Given the description of an element on the screen output the (x, y) to click on. 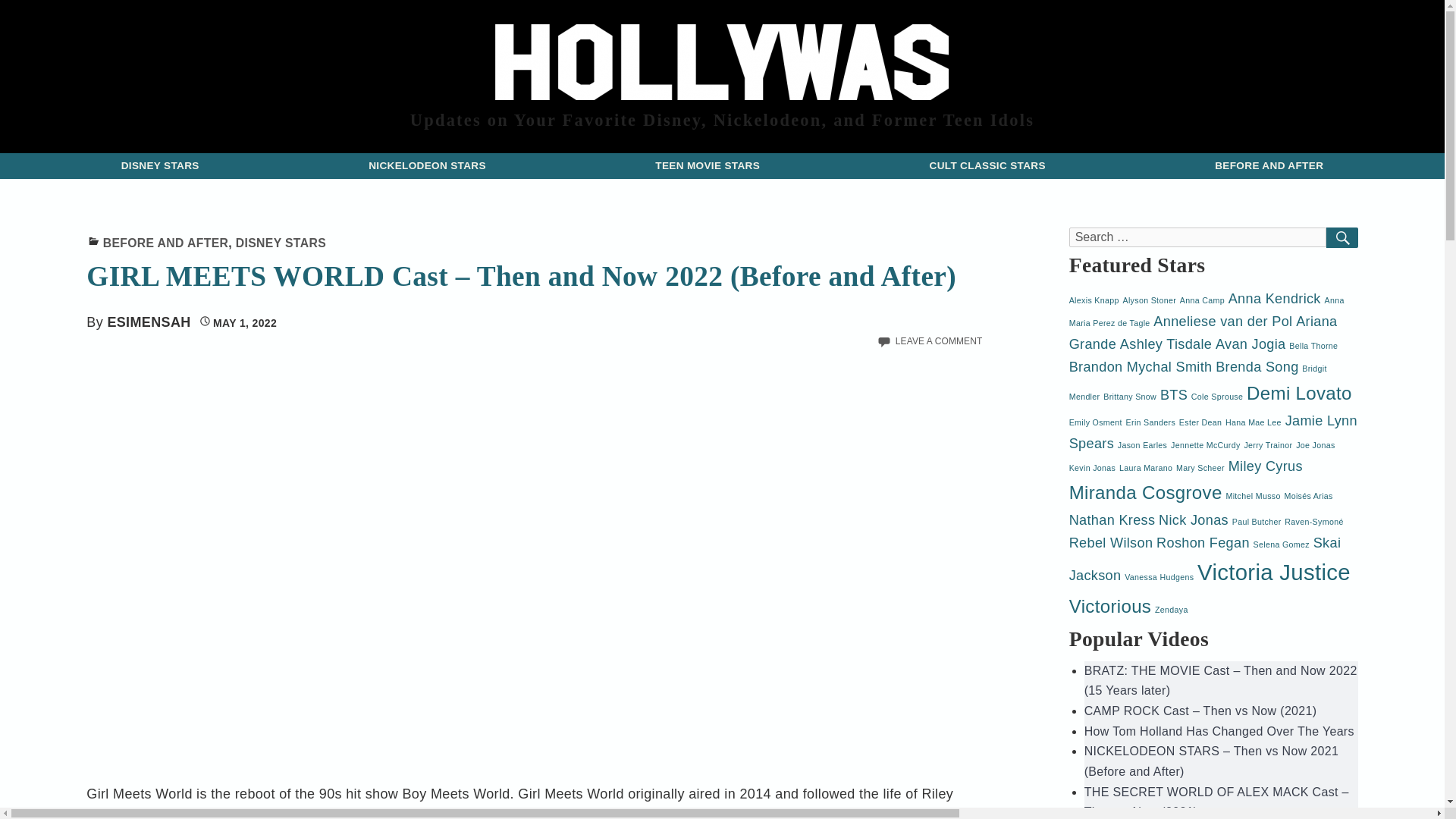
CULT CLASSIC STARS (986, 166)
DISNEY STARS (280, 242)
Alexis Knapp (1093, 299)
TEEN MOVIE STARS (707, 166)
DISNEY STARS (159, 166)
BEFORE AND AFTER (1268, 166)
NICKELODEON STARS (427, 166)
Search for: (1197, 237)
ESIMENSAH (148, 322)
MAY 1, 2022 (238, 322)
BEFORE AND AFTER (165, 242)
LEAVE A COMMENT (938, 340)
SEARCH (1342, 237)
